Given the description of an element on the screen output the (x, y) to click on. 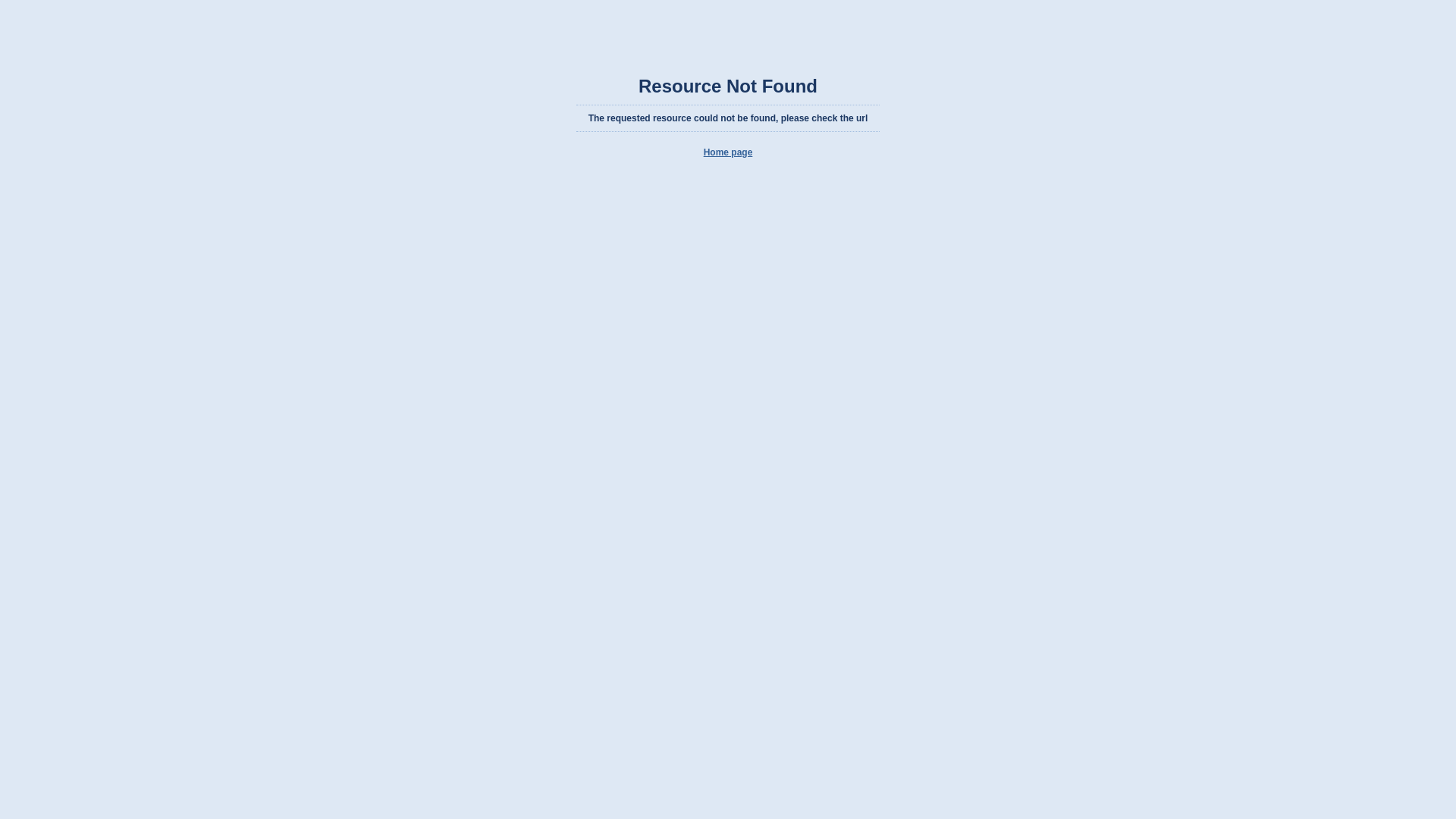
Home page Element type: text (728, 152)
